Given the description of an element on the screen output the (x, y) to click on. 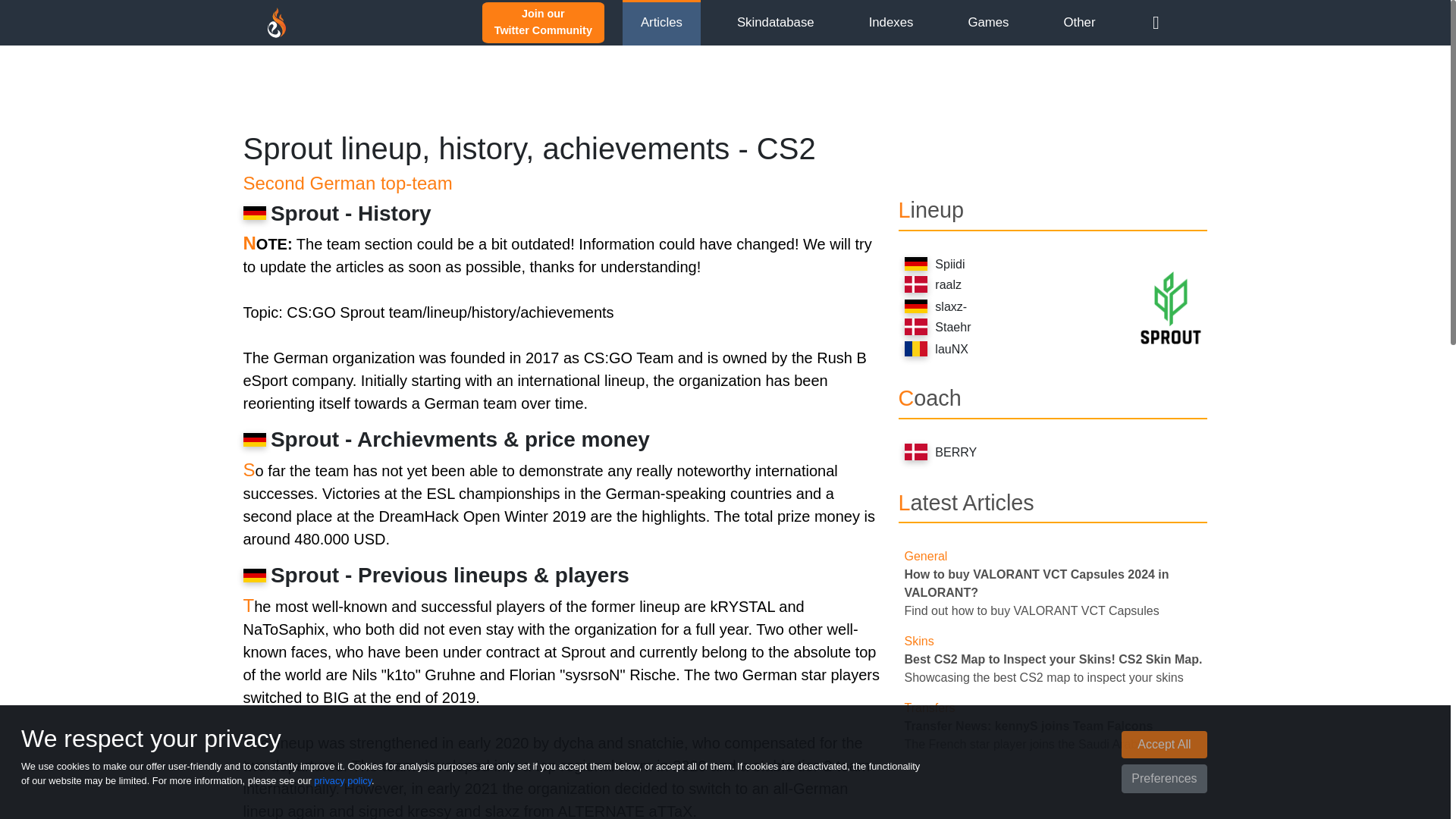
Indexes (891, 22)
Best CS2 Map to Inspect your Skins! CS2 Skin Map. (1053, 658)
Accept All (1164, 744)
Preferences (1164, 778)
Skindatabase (774, 22)
Transfers (929, 707)
privacy policy (342, 780)
Skins (918, 640)
How to buy VALORANT VCT Capsules 2024 in VALORANT? (542, 21)
Games (1036, 583)
Transfer News: kennyS joins Team Falcons (988, 22)
Articles (1028, 725)
General (661, 22)
